Given the description of an element on the screen output the (x, y) to click on. 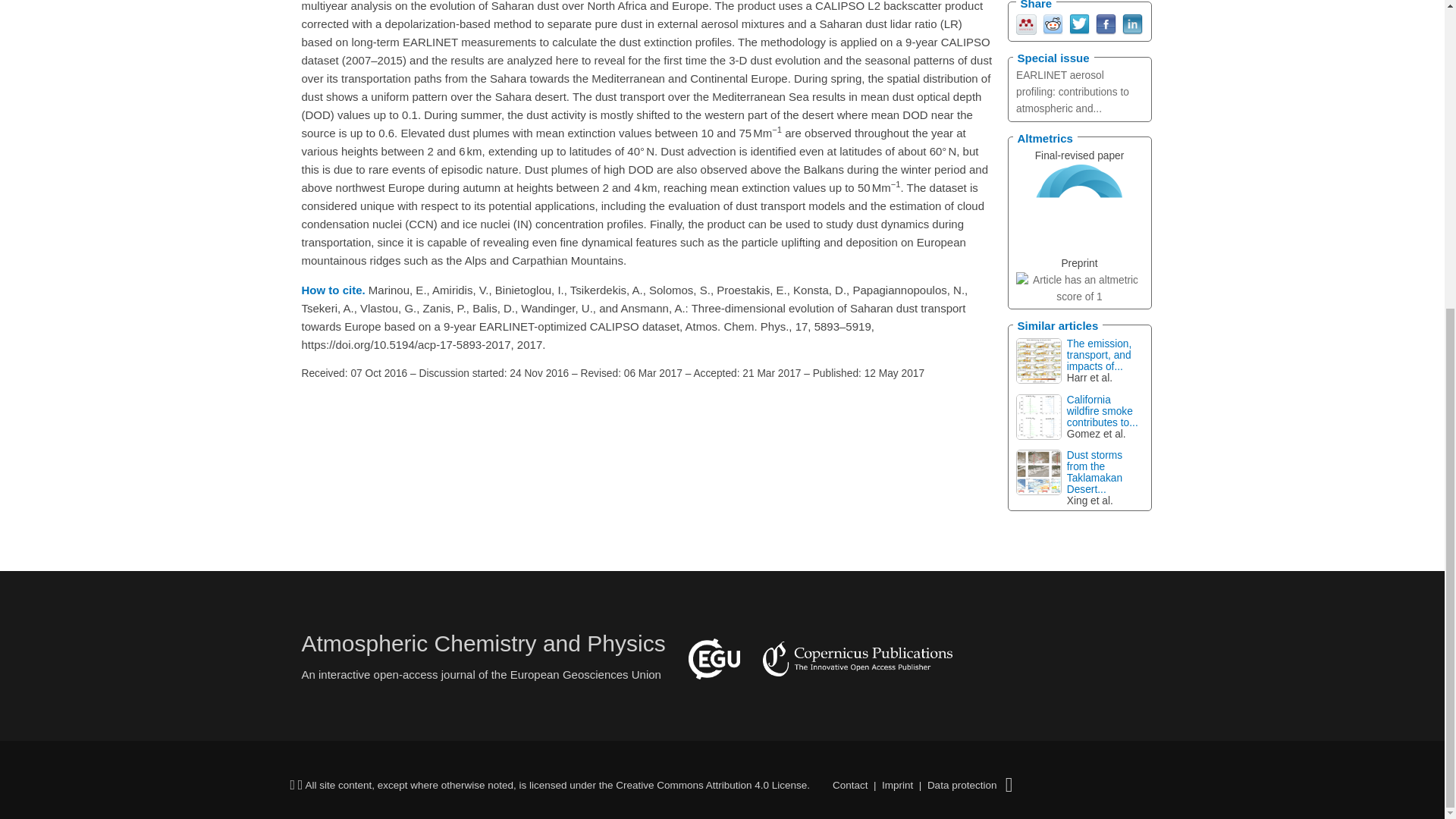
Reddit (1052, 23)
Mendeley (1026, 23)
Twitter (1078, 23)
